Given the description of an element on the screen output the (x, y) to click on. 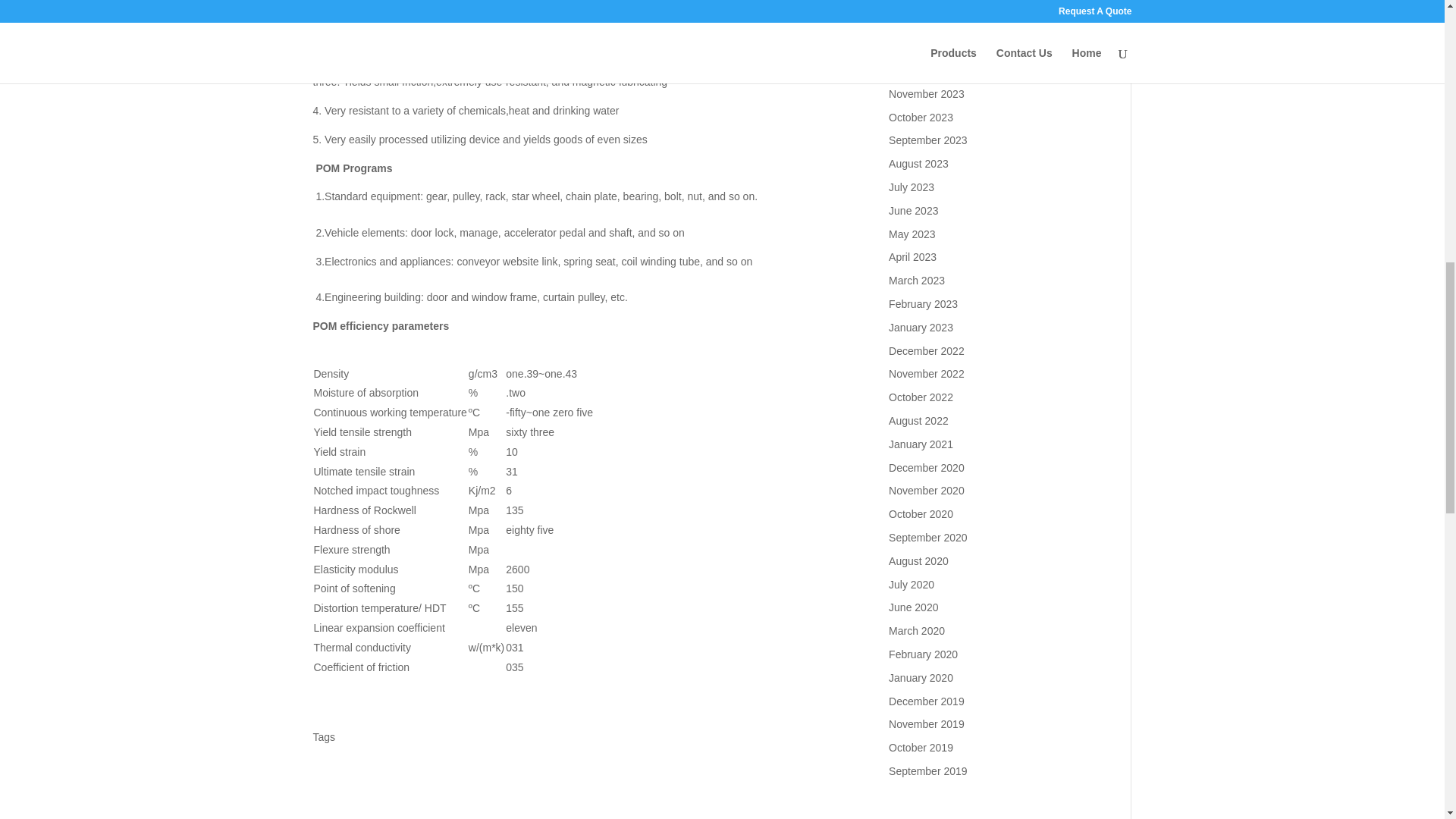
January 2023 (920, 327)
November 2020 (925, 490)
December 2022 (925, 350)
November 2023 (925, 93)
June 2023 (912, 210)
March 2023 (916, 280)
December 2023 (925, 70)
October 2020 (920, 513)
July 2023 (911, 186)
February 2023 (923, 304)
